Given the description of an element on the screen output the (x, y) to click on. 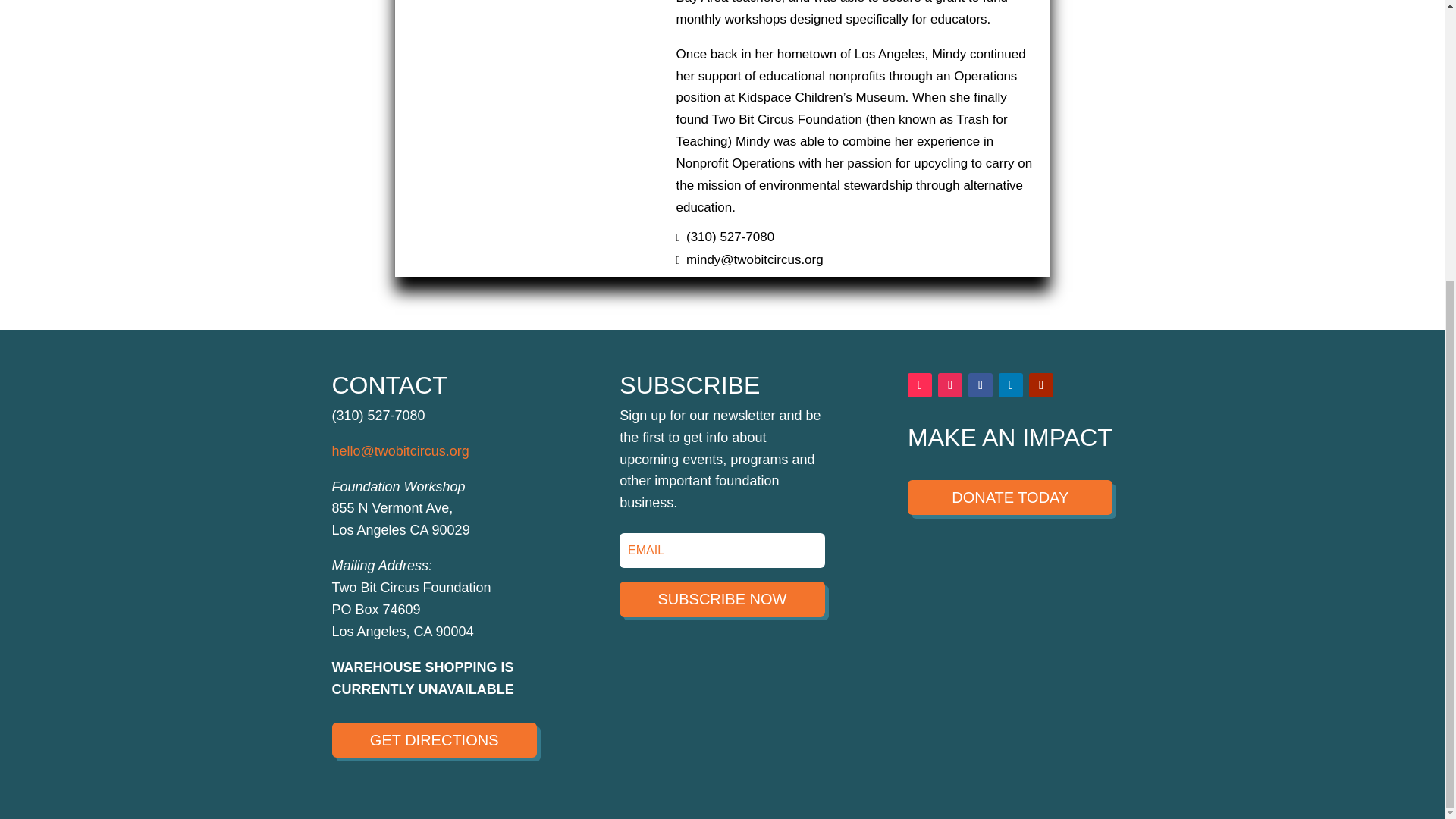
Follow on TikTok (919, 385)
Follow on LinkedIn (1010, 385)
Follow on Facebook (980, 385)
Follow on Instagram (949, 385)
Follow on Youtube (1040, 385)
